Given the description of an element on the screen output the (x, y) to click on. 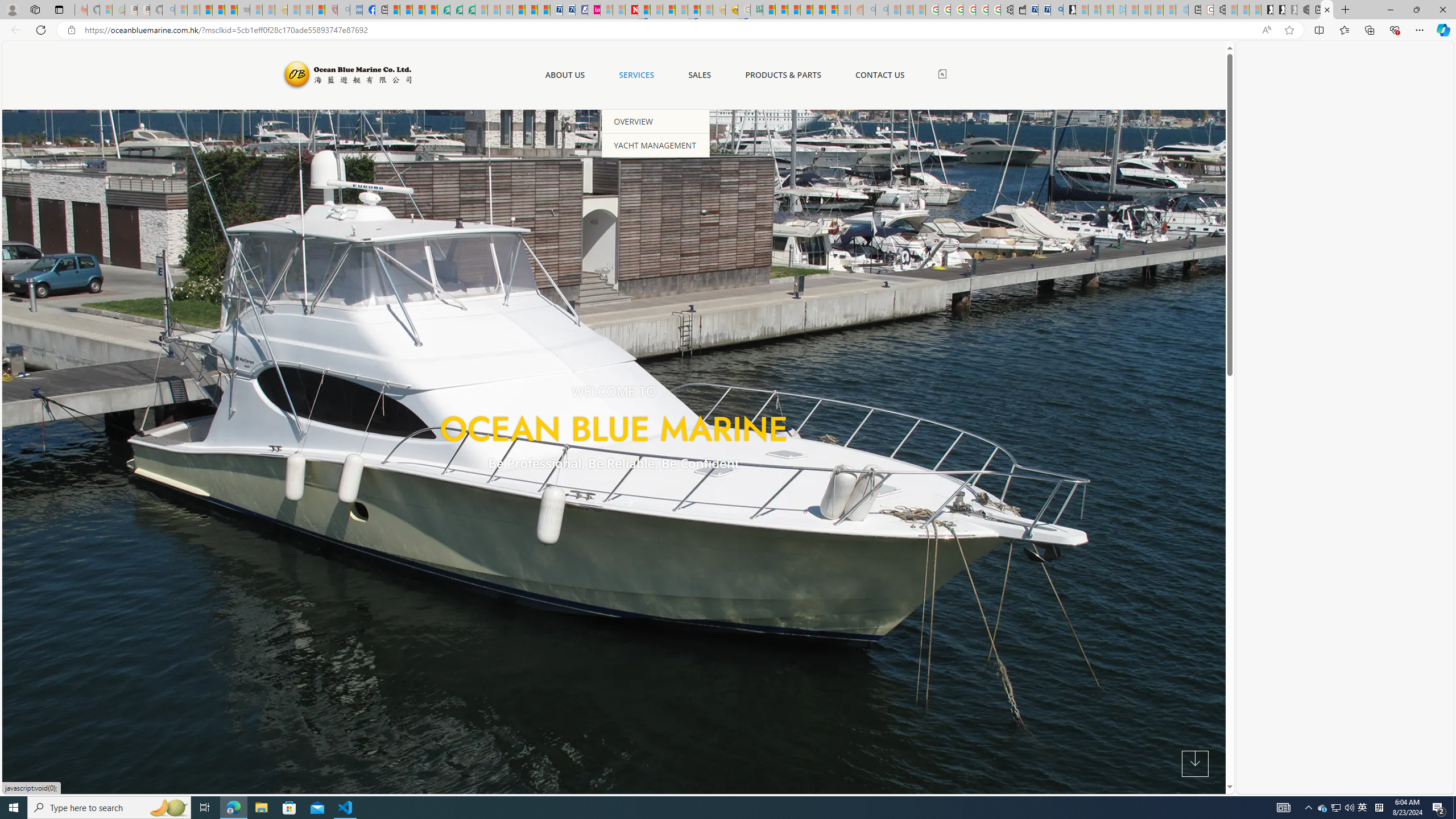
The Weather Channel - MSN (205, 9)
ABOUT US (564, 74)
Local - MSN (318, 9)
Jobs - lastminute.com Investor Portal (593, 9)
